Given the description of an element on the screen output the (x, y) to click on. 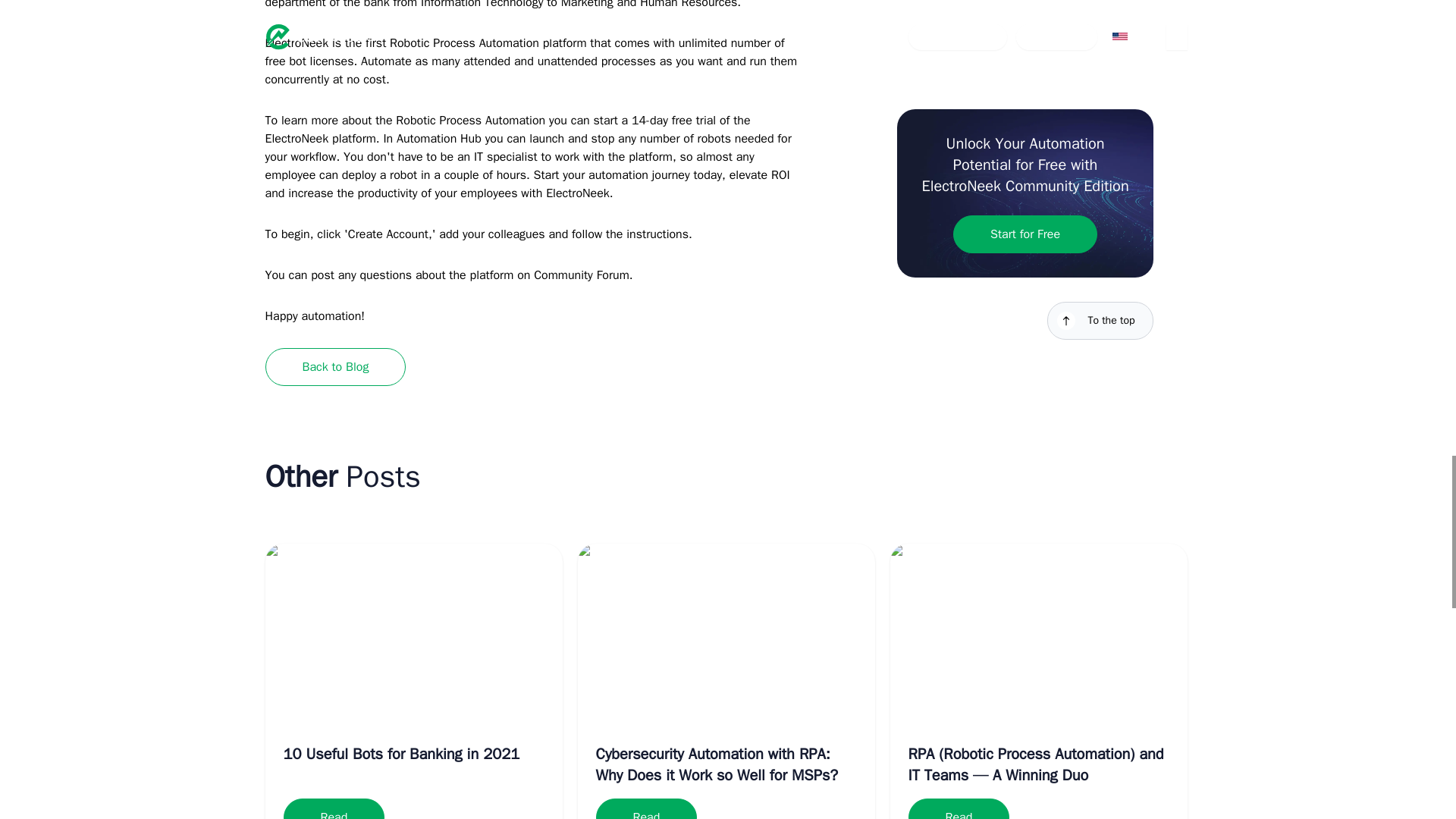
Back to Blog (335, 366)
